Given the description of an element on the screen output the (x, y) to click on. 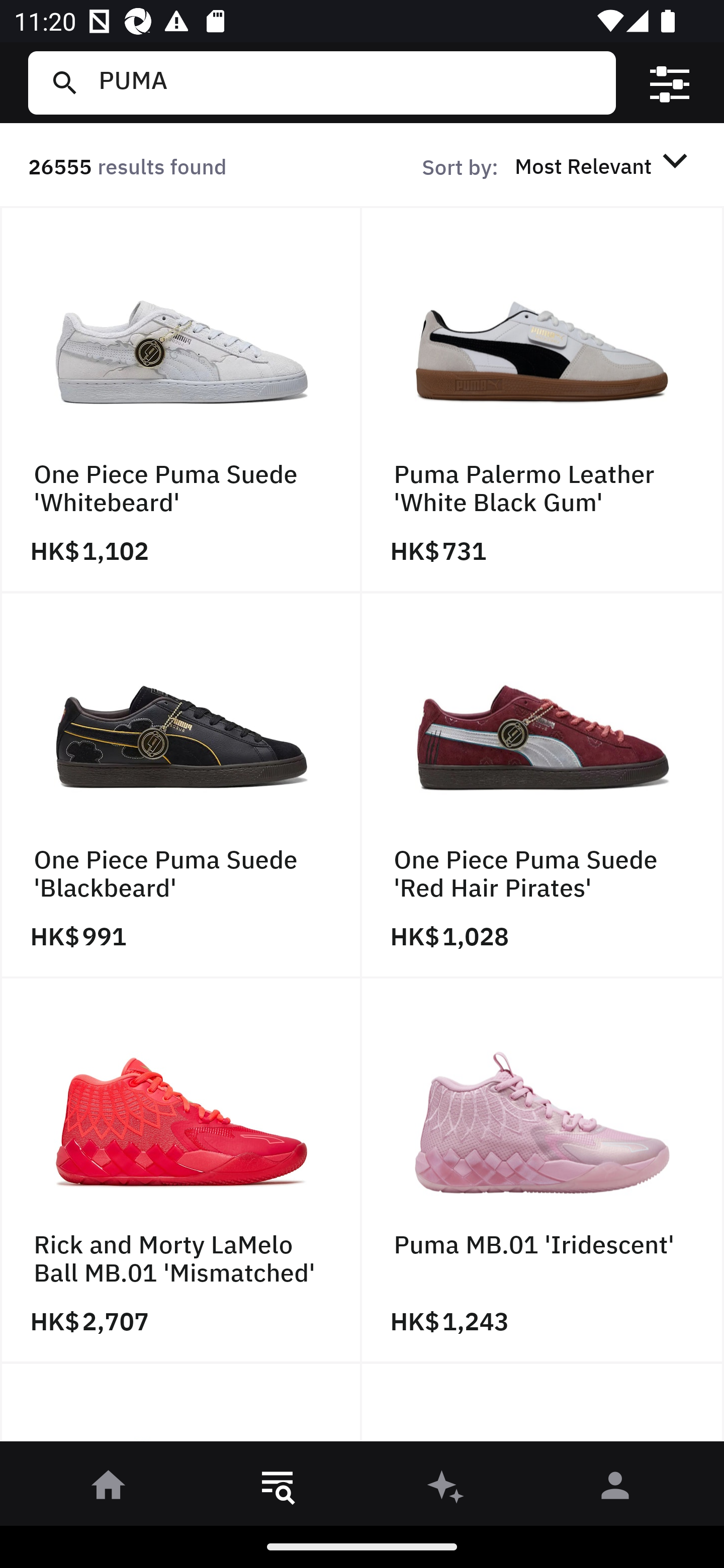
PUMA (349, 82)
 (669, 82)
Most Relevant  (604, 165)
One Piece Puma Suede 'Whitebeard' HK$ 1,102 (181, 399)
Puma Palermo Leather 'White Black Gum' HK$ 731 (543, 399)
One Piece Puma Suede 'Blackbeard' HK$ 991 (181, 785)
One Piece Puma Suede 'Red Hair Pirates' HK$ 1,028 (543, 785)
Puma MB.01 'Iridescent' HK$ 1,243 (543, 1171)
󰋜 (108, 1488)
󱎸 (277, 1488)
󰫢 (446, 1488)
󰀄 (615, 1488)
